Given the description of an element on the screen output the (x, y) to click on. 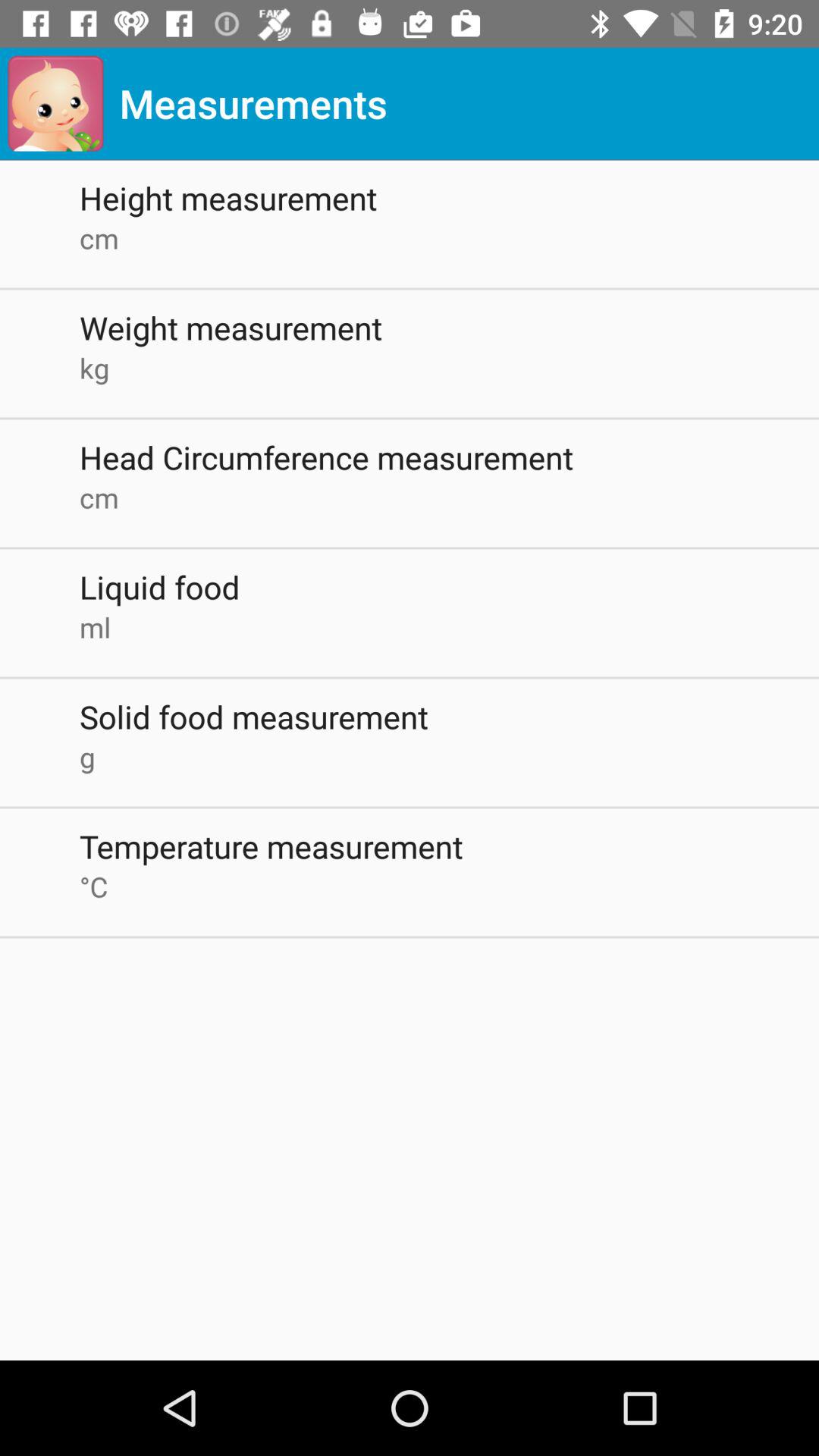
tap kg (449, 367)
